Given the description of an element on the screen output the (x, y) to click on. 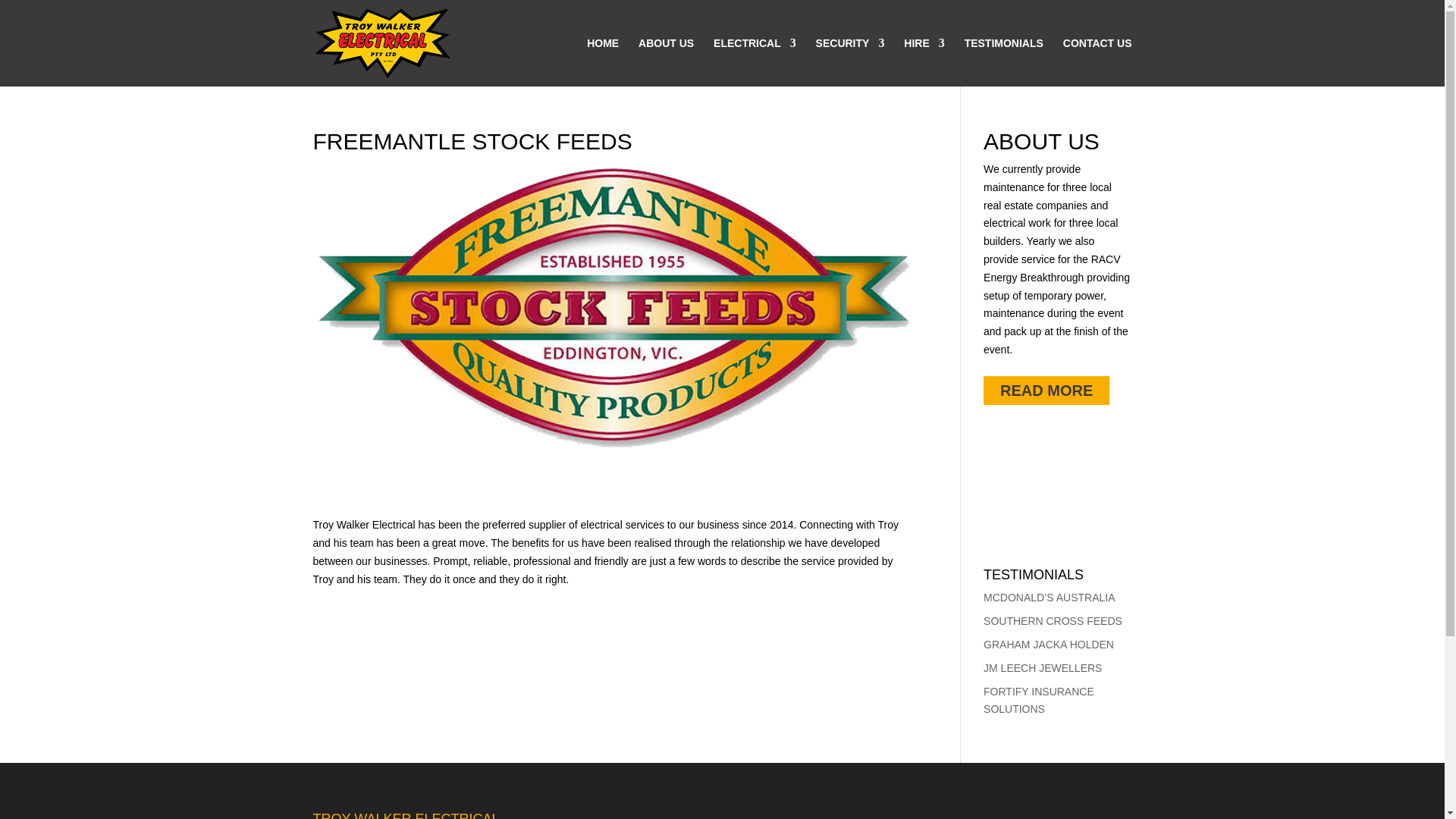
READ MORE (1046, 389)
ABOUT US (666, 61)
SECURITY (850, 61)
ELECTRICAL (754, 61)
CONTACT US (1097, 61)
TESTIMONIALS (1003, 61)
